Given the description of an element on the screen output the (x, y) to click on. 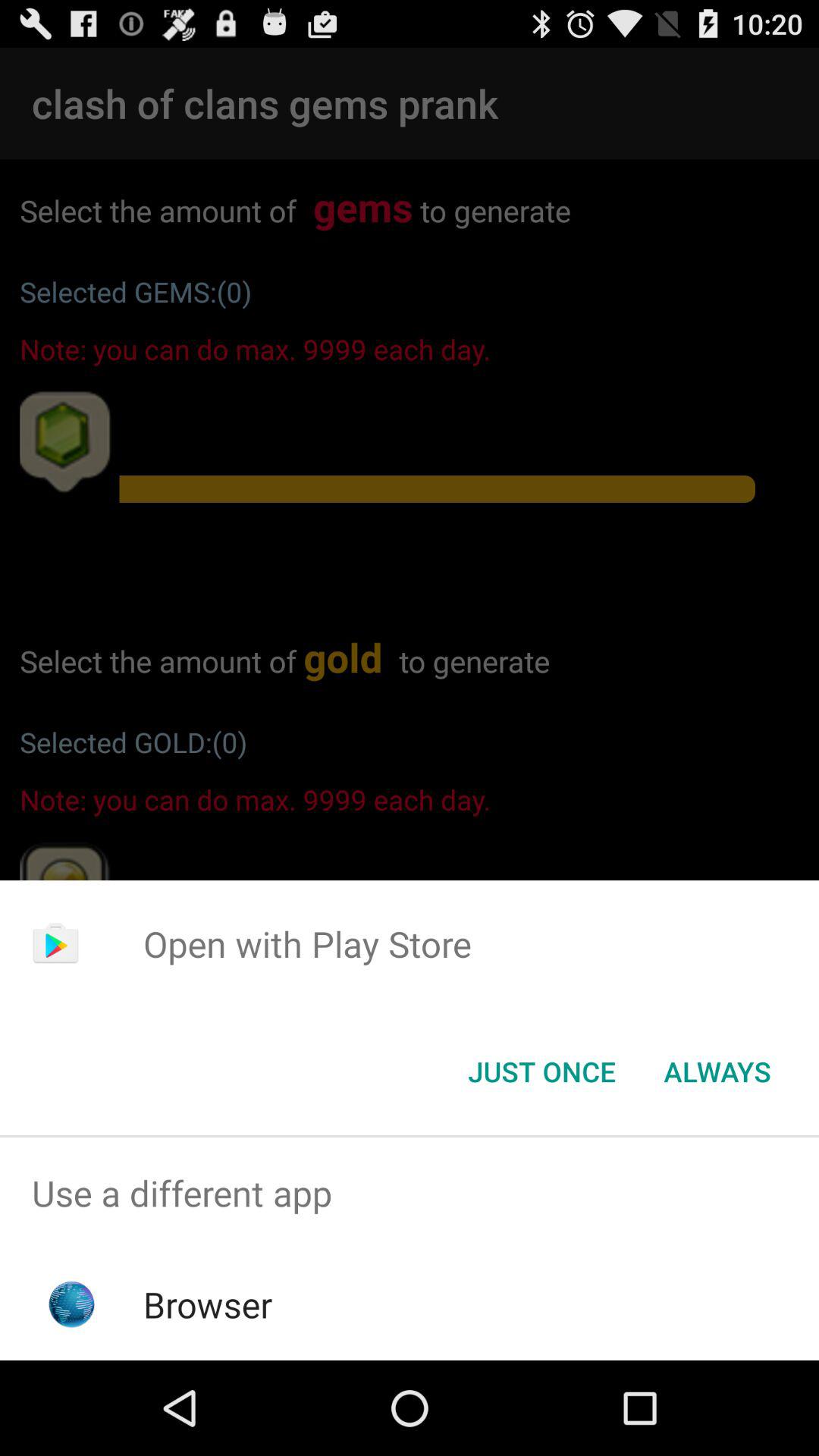
launch the icon below the use a different item (207, 1304)
